Given the description of an element on the screen output the (x, y) to click on. 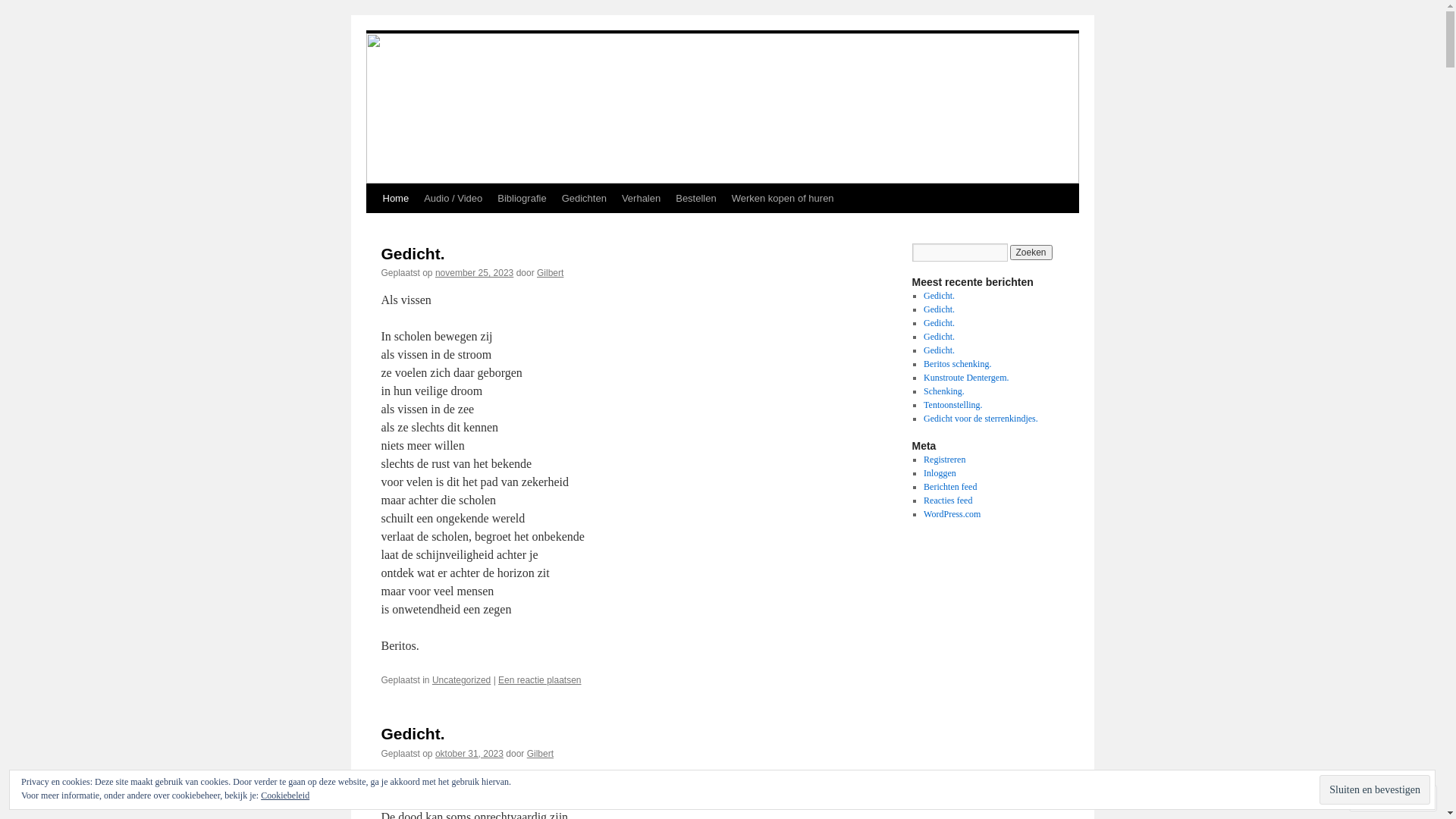
Schenking. Element type: text (943, 390)
oktober 31, 2023 Element type: text (469, 753)
Beritos Element type: text (404, 43)
Gedicht. Element type: text (938, 336)
Gilbert Element type: text (549, 272)
Beritos schenking. Element type: text (957, 363)
Inloggen Element type: text (939, 472)
Sluiten en bevestigen Element type: text (1374, 789)
Gedicht. Element type: text (412, 733)
Gedicht. Element type: text (938, 309)
Verhalen Element type: text (641, 198)
Tentoonstelling. Element type: text (952, 404)
Reacties feed Element type: text (947, 500)
Volg Element type: text (1378, 797)
november 25, 2023 Element type: text (474, 272)
Een reactie plaatsen Element type: text (539, 679)
Registreren Element type: text (944, 459)
Home Element type: text (395, 198)
Gedicht. Element type: text (938, 350)
Gedichten Element type: text (584, 198)
Gedicht voor de sterrenkindjes. Element type: text (980, 418)
Audio / Video Element type: text (452, 198)
Uncategorized Element type: text (461, 679)
Bibliografie Element type: text (521, 198)
Kunstroute Dentergem. Element type: text (965, 377)
Gilbert Element type: text (540, 753)
Cookiebeleid Element type: text (284, 795)
WordPress.com Element type: text (951, 513)
Werken kopen of huren Element type: text (782, 198)
Bestellen Element type: text (695, 198)
Berichten feed Element type: text (949, 486)
Gedicht. Element type: text (938, 322)
Gedicht. Element type: text (412, 253)
Zoeken Element type: text (1031, 252)
Gedicht. Element type: text (938, 295)
